Given the description of an element on the screen output the (x, y) to click on. 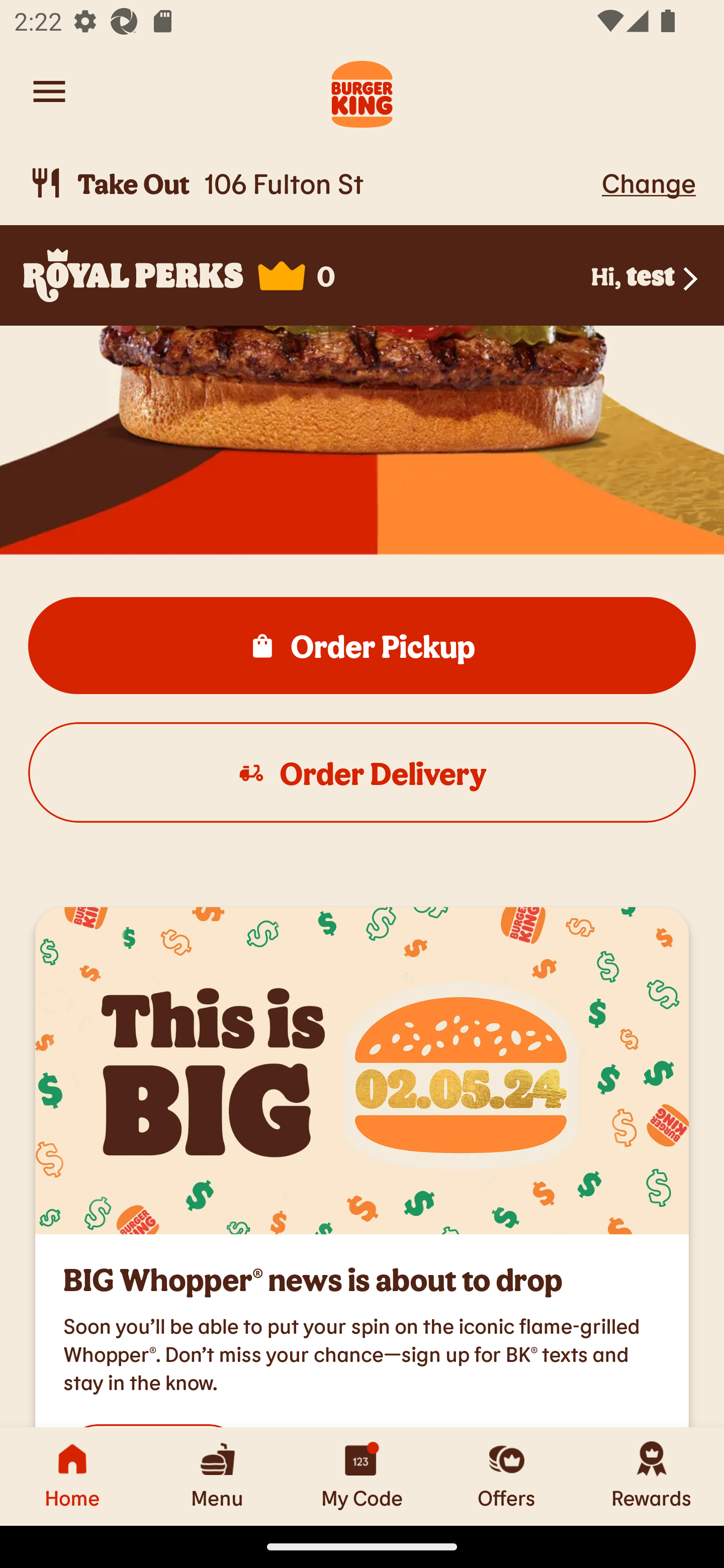
Burger King Logo. Navigate to Home (362, 91)
Navigate to account menu  (49, 91)
Take Out, 106 Fulton St  Take Out 106 Fulton St (311, 183)
Change (648, 182)
, Order Pickup  Order Pickup (361, 645)
, Order Delivery  Order Delivery (361, 772)
MDW Teaser Auth App (361, 1070)
Home (72, 1475)
Menu (216, 1475)
My Code (361, 1475)
Offers (506, 1475)
Rewards (651, 1475)
